Given the description of an element on the screen output the (x, y) to click on. 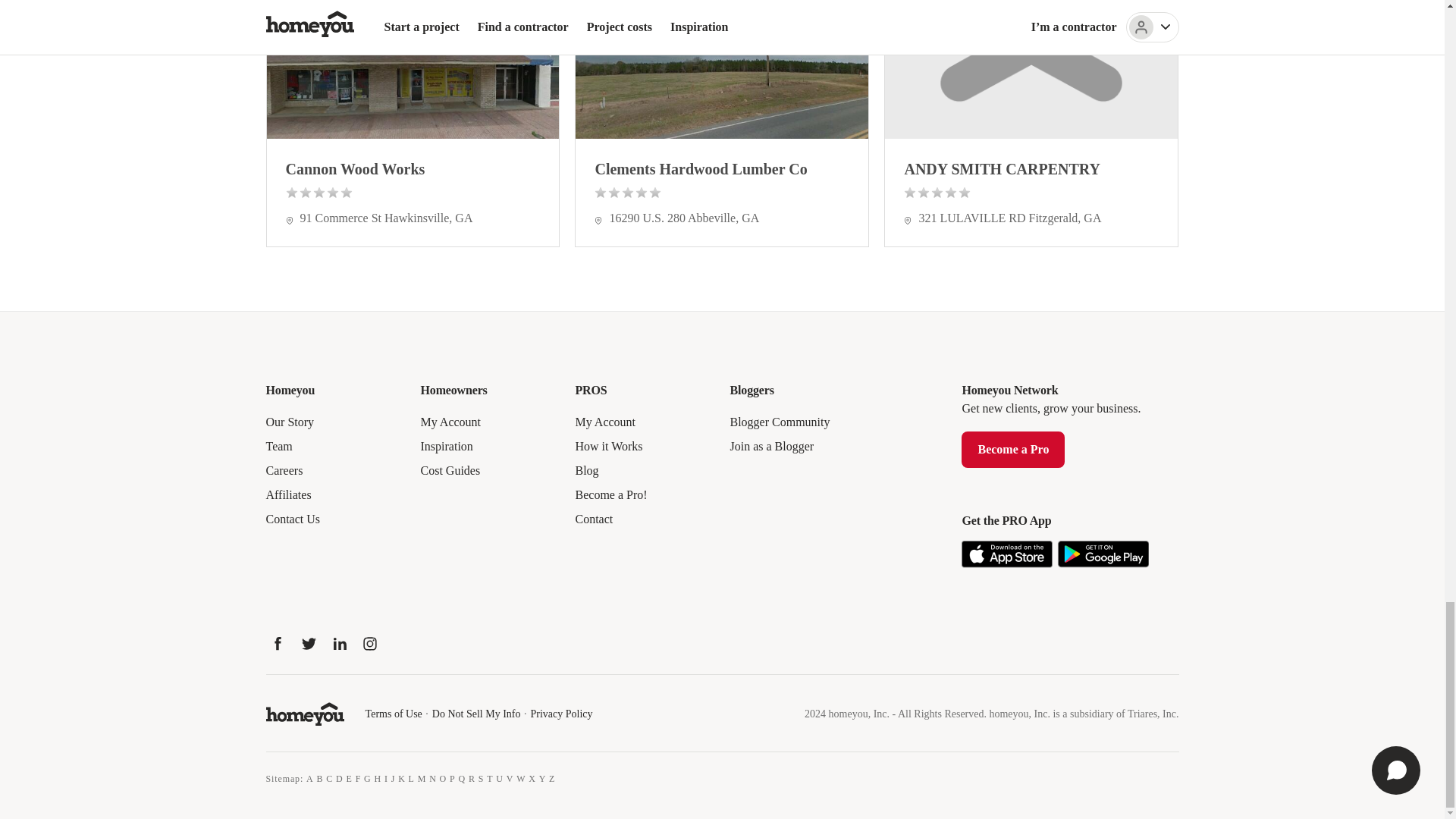
Twitter (308, 643)
Sitemap (281, 778)
Linkedin (339, 643)
Instagram (369, 643)
Facebook (276, 643)
